Given the description of an element on the screen output the (x, y) to click on. 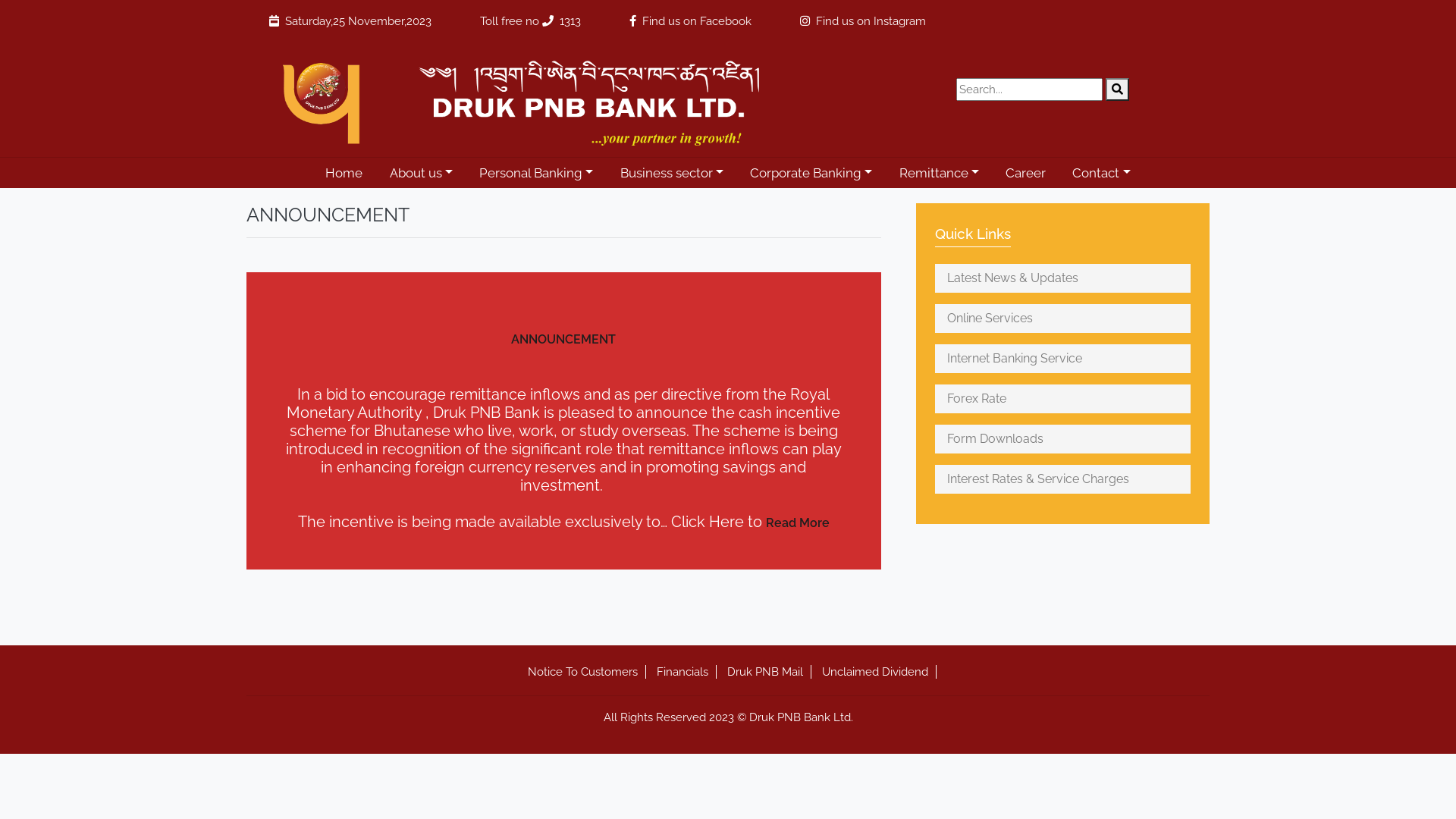
Find us on Facebook Element type: text (696, 21)
Contact Element type: text (1101, 172)
Online Services Element type: text (1062, 318)
1313 Element type: text (569, 21)
Notice To Customers Element type: text (582, 671)
Internet Banking Service Element type: text (1062, 358)
Interest Rates & Service Charges Element type: text (1062, 478)
Financials Element type: text (682, 671)
Find us on Instagram Element type: text (870, 21)
Druk PNB Bank Ltd. Element type: text (801, 717)
Read More Element type: text (797, 522)
Remittance Element type: text (938, 172)
Home Element type: text (344, 172)
About us Element type: text (421, 172)
Druk PNB Mail Element type: text (763, 671)
Unclaimed Dividend Element type: text (874, 671)
Latest News & Updates Element type: text (1062, 277)
Forex Rate Element type: text (1062, 398)
Corporate Banking Element type: text (811, 172)
Career Element type: text (1025, 172)
Business sector Element type: text (671, 172)
Druk PNB Bank Ltd. Element type: hover (527, 98)
Form Downloads Element type: text (1062, 438)
Personal Banking Element type: text (535, 172)
